Given the description of an element on the screen output the (x, y) to click on. 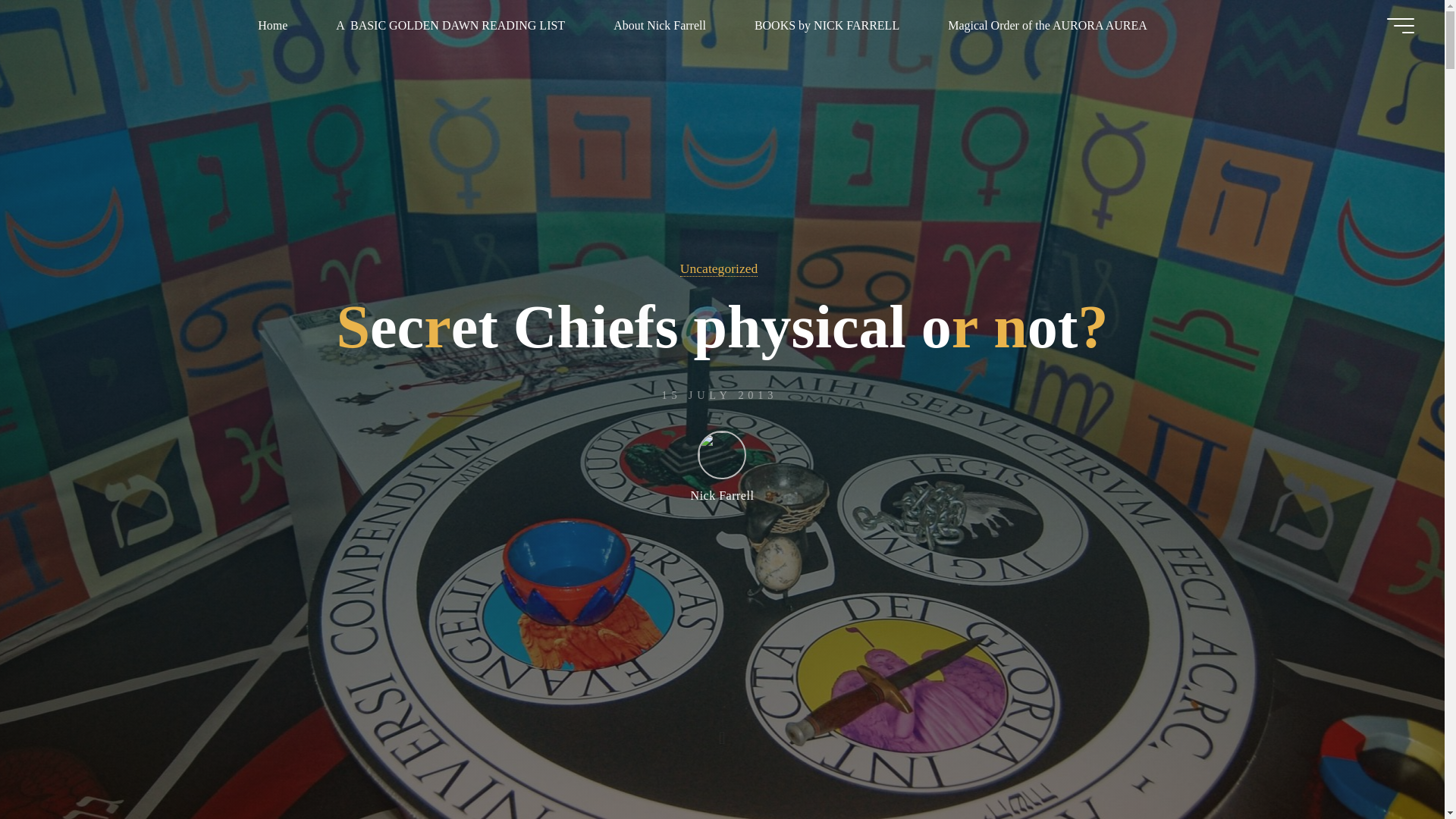
Home (271, 25)
About Nick Farrell (659, 25)
A  BASIC GOLDEN DAWN READING LIST (450, 25)
BOOKS by NICK FARRELL (826, 25)
Nick Farrell (722, 466)
Magical Order of the AURORA AUREA (1047, 25)
Uncategorized (718, 268)
View all posts by Nick Farrell (722, 466)
Read more (721, 724)
